Given the description of an element on the screen output the (x, y) to click on. 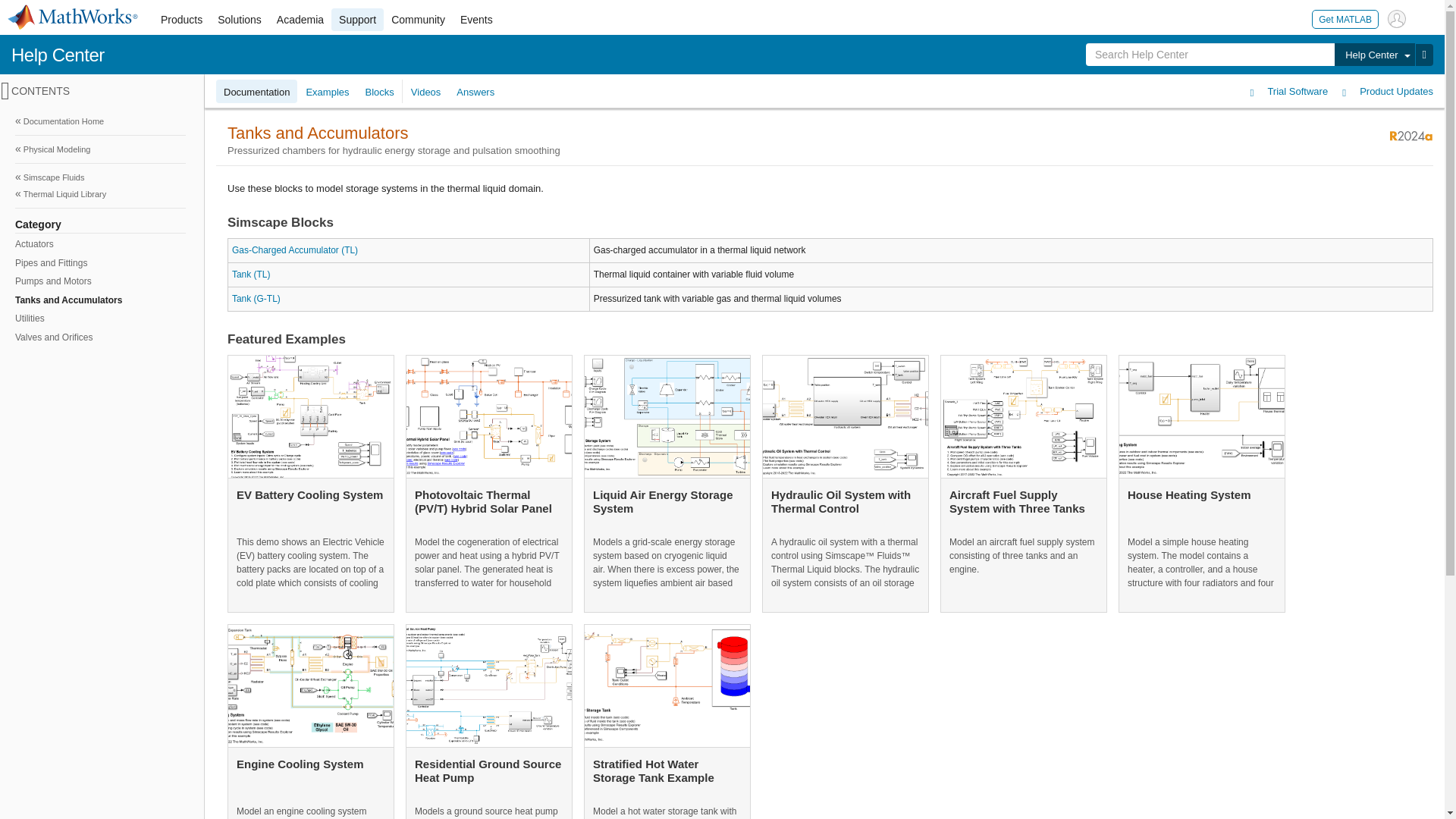
Events (476, 19)
Solutions (239, 19)
Help Center (1374, 54)
Get MATLAB (1344, 18)
Products (180, 19)
Academia (300, 19)
Community (418, 19)
Support (357, 19)
Pumps and Motors (98, 281)
Documentation Home (100, 121)
Simscape Fluids (100, 176)
Pipes and Fittings (98, 262)
Thermal Liquid Library (100, 193)
Help Center (57, 54)
Sign In to Your MathWorks Account (1396, 18)
